Given the description of an element on the screen output the (x, y) to click on. 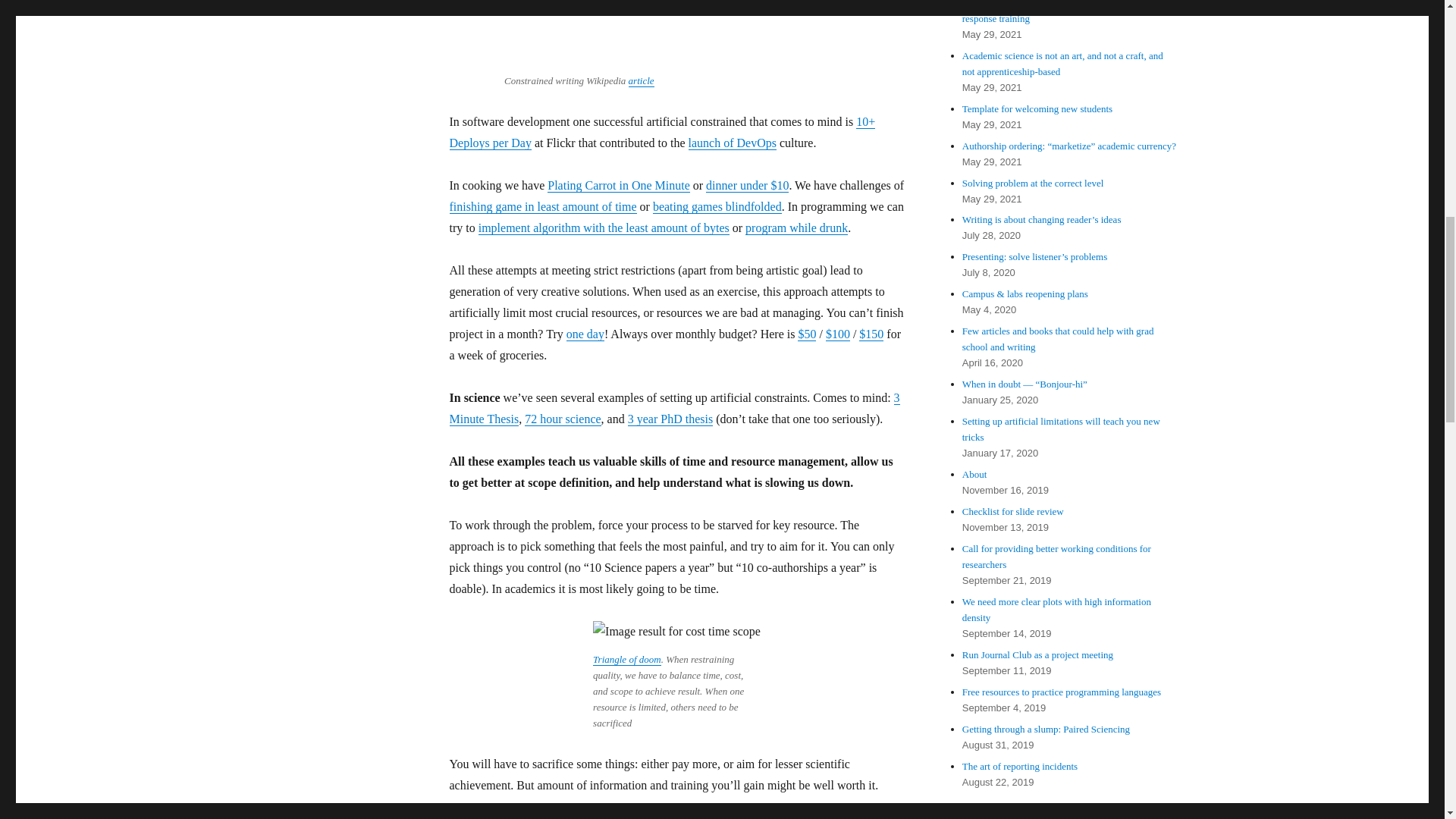
article (640, 80)
72 hour science (561, 418)
3 Minute Thesis (673, 408)
Triangle of doom (626, 659)
3 year PhD thesis (670, 418)
Plating Carrot in One Minute (618, 185)
program while drunk (796, 227)
launch of DevOps (732, 142)
one day (585, 333)
finishing game in least amount of time (542, 205)
